Given the description of an element on the screen output the (x, y) to click on. 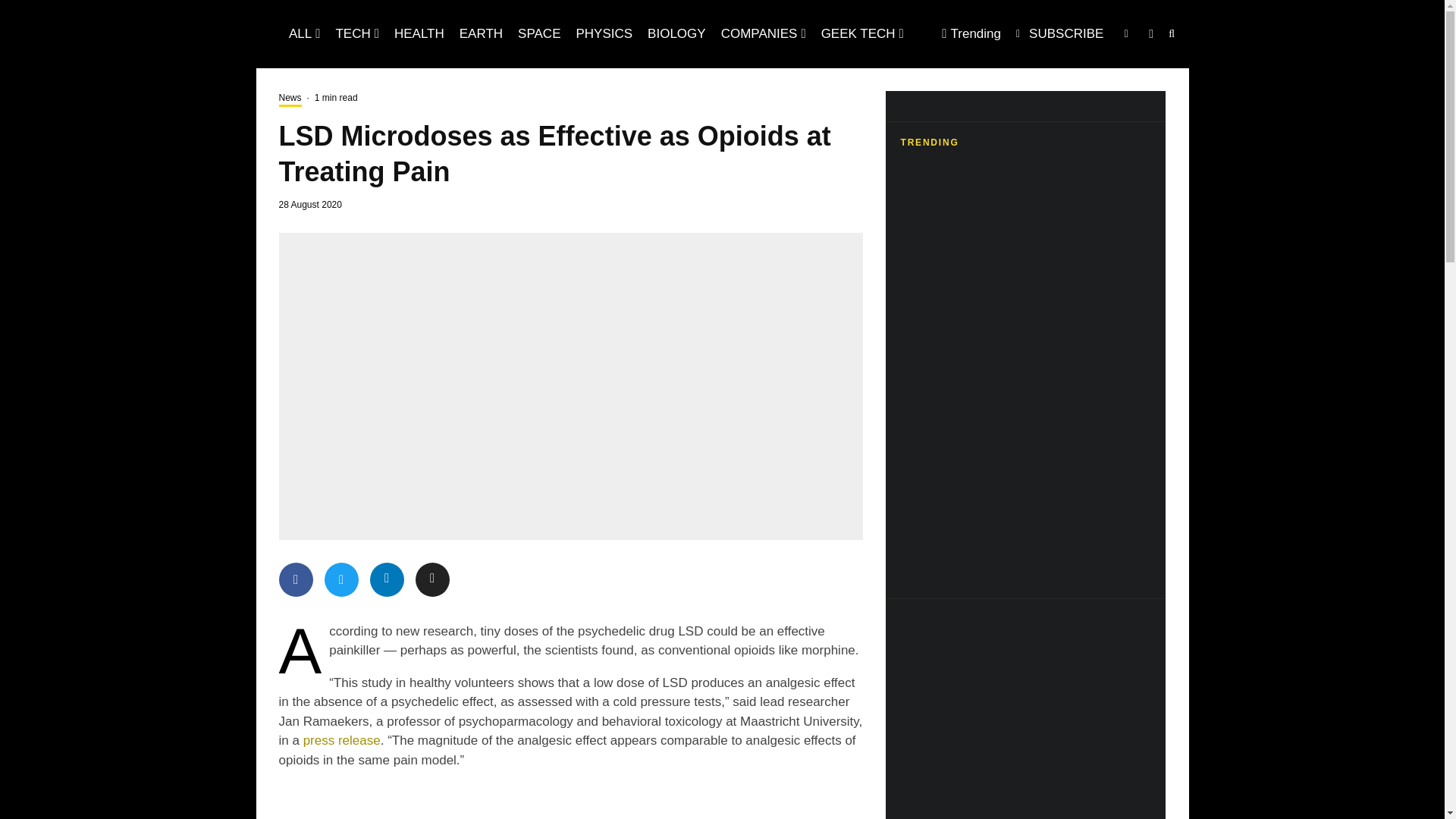
HEALTH (419, 33)
